Given the description of an element on the screen output the (x, y) to click on. 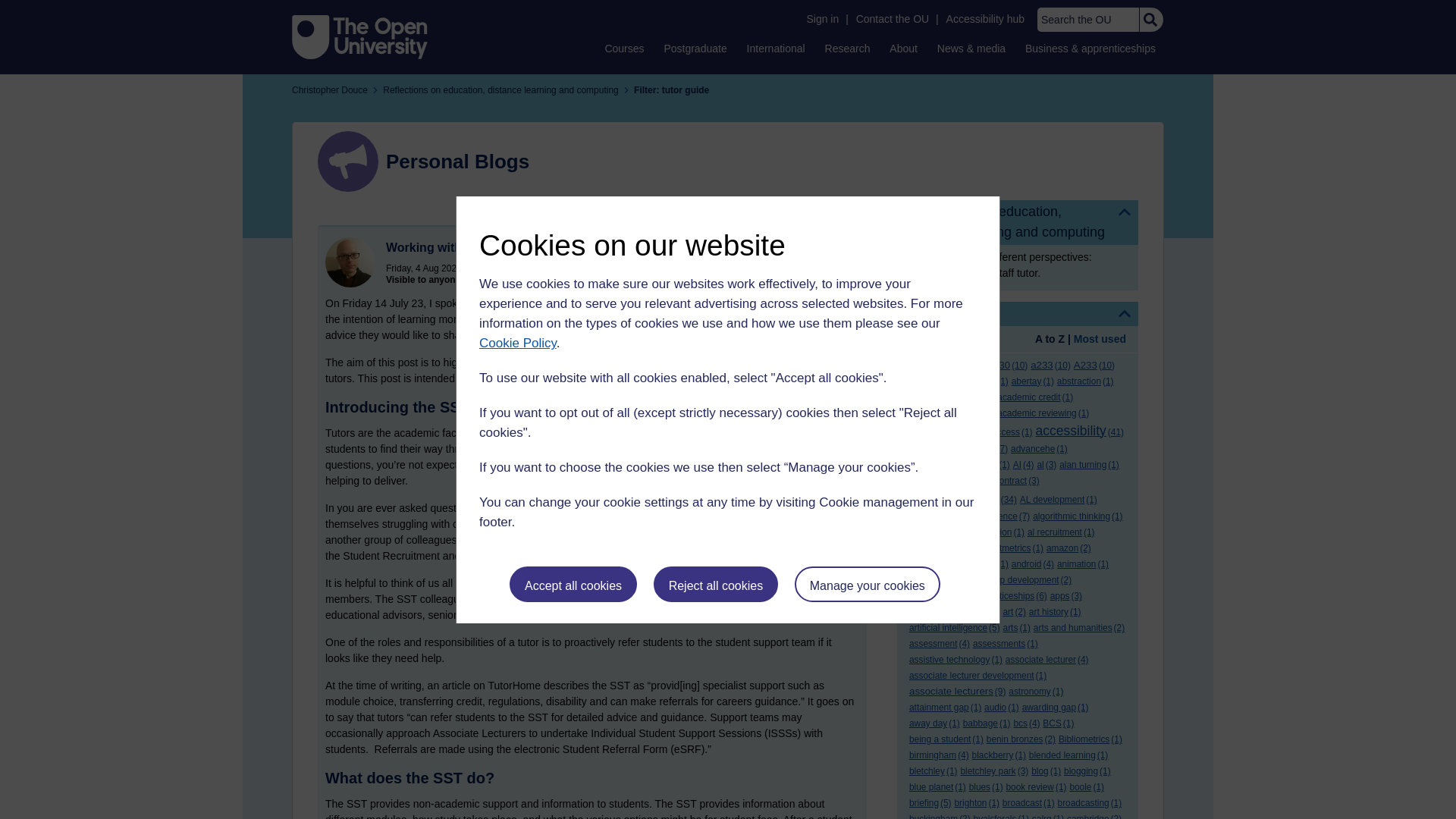
Sign in (822, 19)
Accessibility hub (985, 19)
Christopher Douce (349, 261)
Reflections on education, distance learning and computing (1017, 221)
Manage your cookies (867, 583)
Search (1149, 19)
Courses (623, 48)
Tags (1017, 313)
Accept all cookies (573, 583)
